Given the description of an element on the screen output the (x, y) to click on. 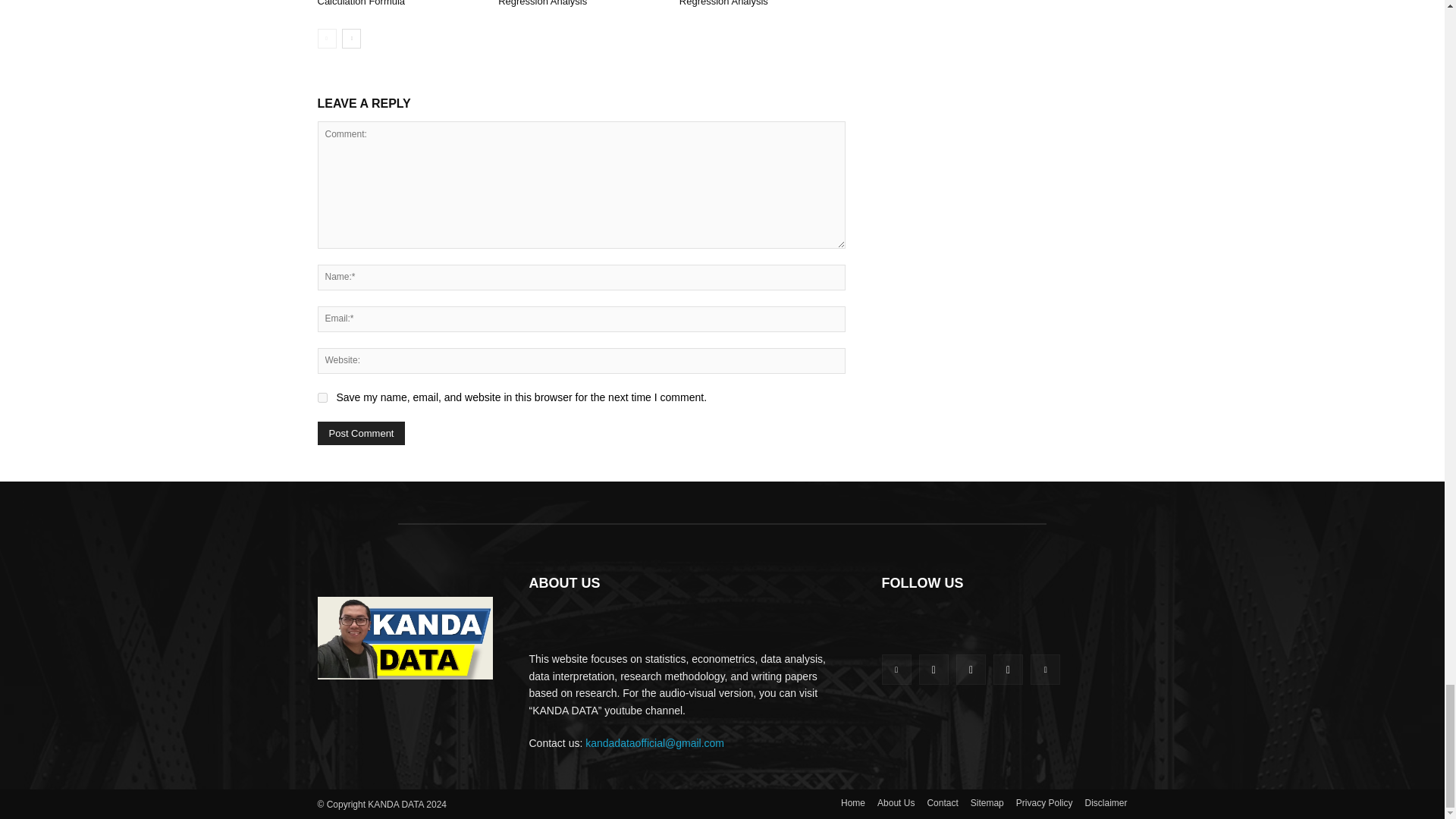
yes (321, 397)
Post Comment (360, 433)
